Given the description of an element on the screen output the (x, y) to click on. 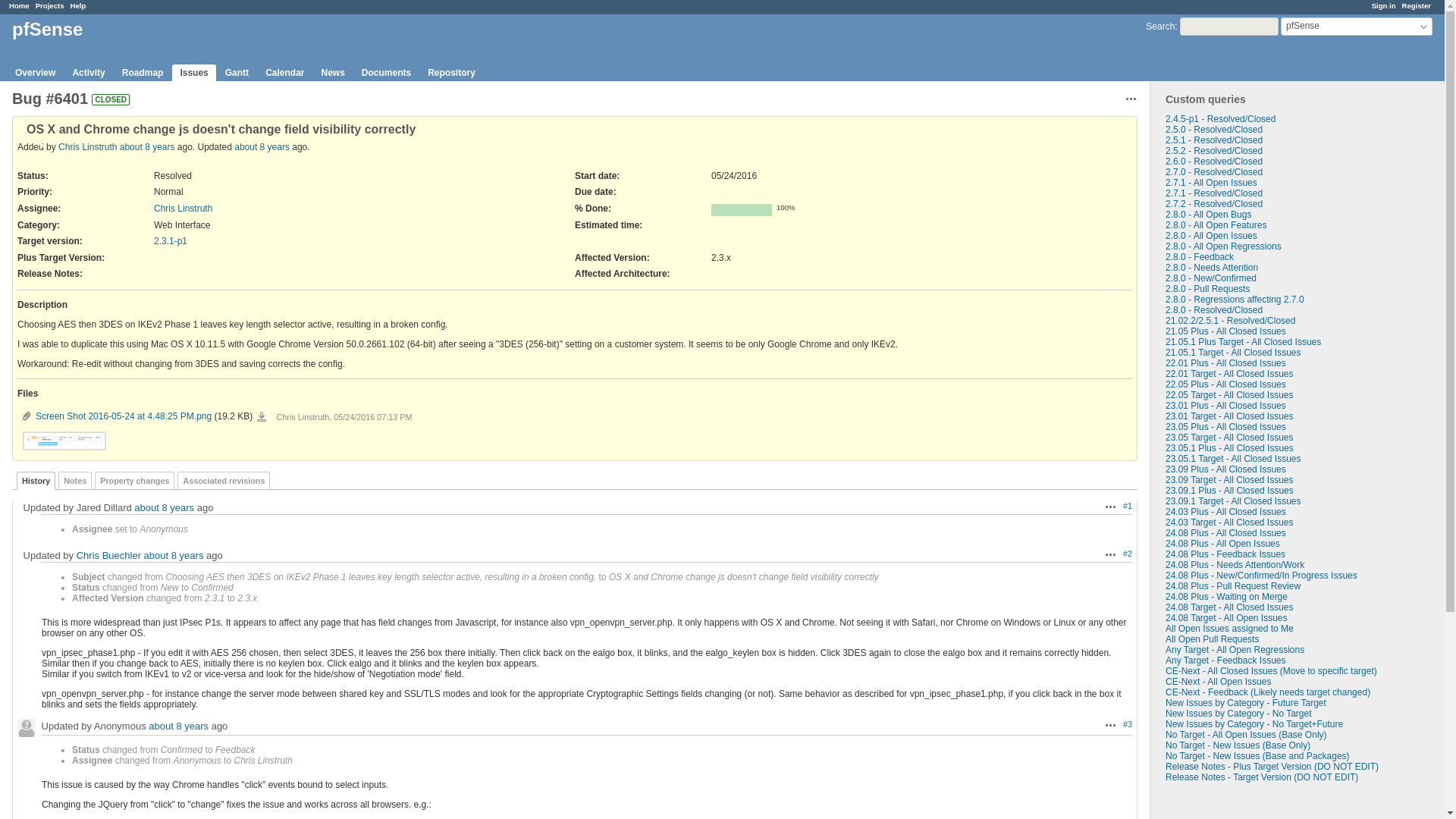
2.7.1 - All Open Issues (1211, 182)
Anonymous (25, 728)
Repository (451, 72)
Issues (193, 72)
2.8.0 - Regressions affecting 2.7.0 (1235, 299)
Download (261, 417)
2.8.0 - Needs Attention (1211, 267)
Register (1416, 5)
Actions (1110, 725)
Home (18, 5)
Documents (386, 72)
Gantt (236, 72)
Actions (1110, 553)
2.8.0 - All Open Bugs (1208, 214)
Help (77, 5)
